Given the description of an element on the screen output the (x, y) to click on. 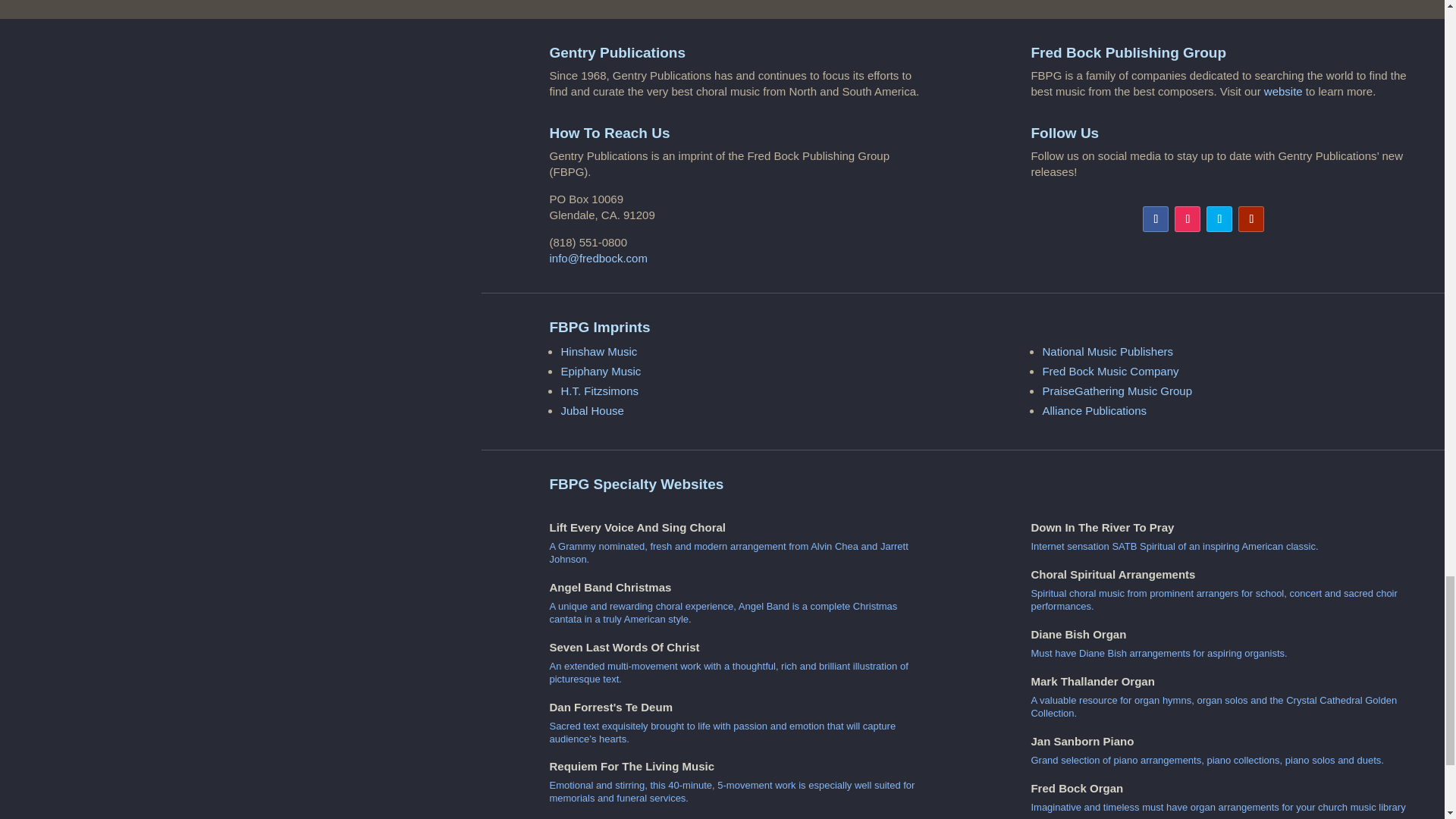
Follow on Facebook (1155, 218)
Follow on Instagram (1186, 218)
Follow on Twitter (1219, 218)
Follow on Youtube (1251, 218)
